Given the description of an element on the screen output the (x, y) to click on. 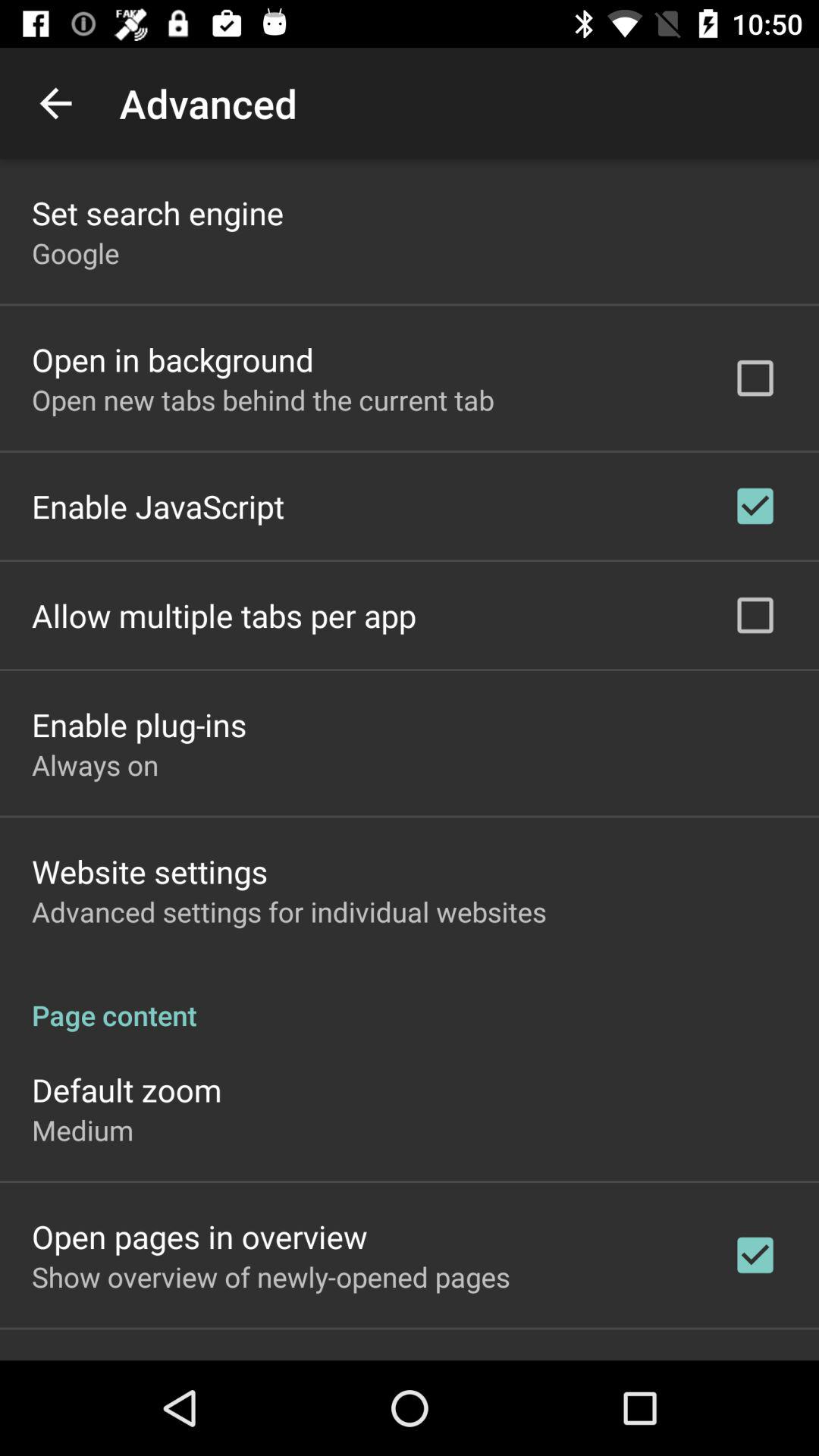
launch app above the always on app (138, 724)
